Given the description of an element on the screen output the (x, y) to click on. 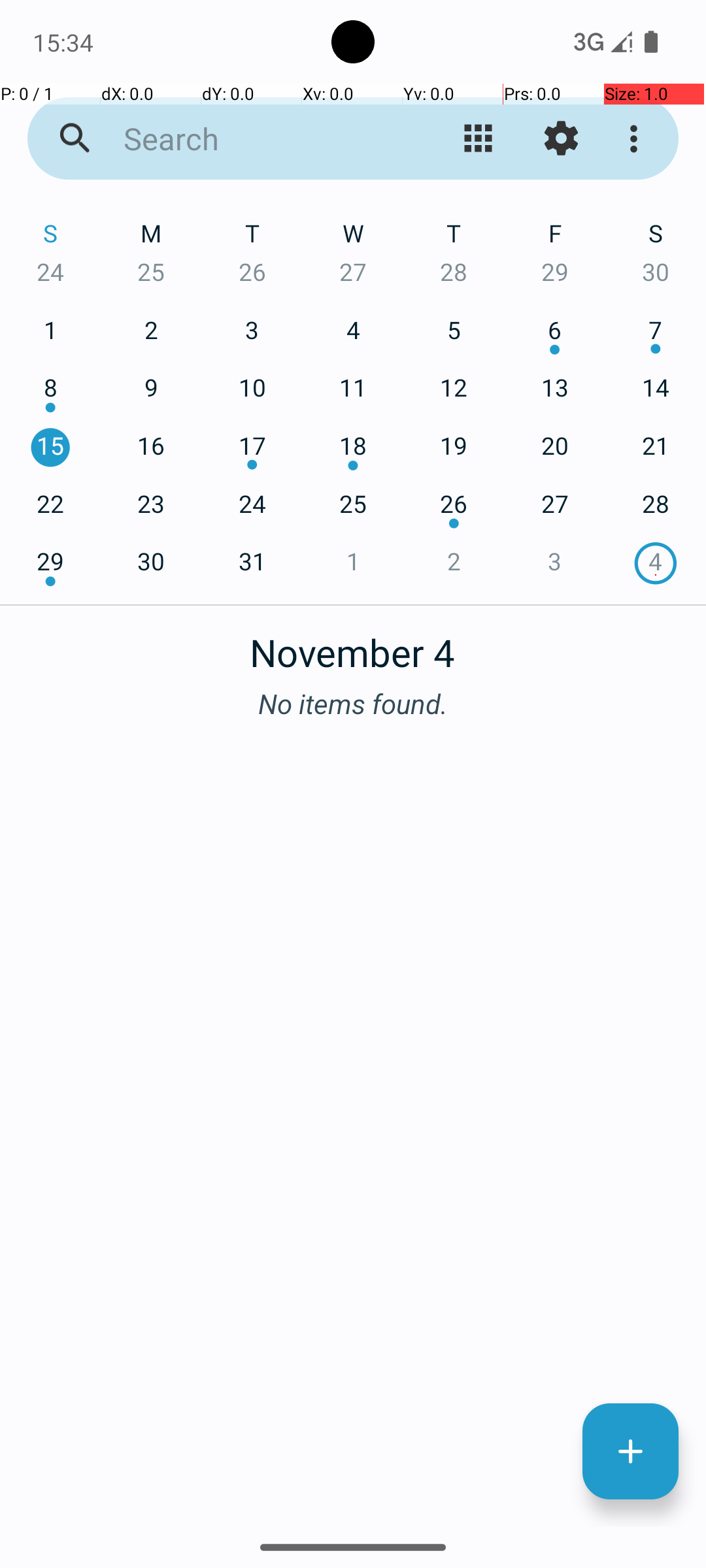
Change view Element type: android.widget.Button (477, 138)
New Event Element type: android.widget.ImageButton (630, 1451)
November 4 Element type: android.widget.TextView (352, 644)
